Given the description of an element on the screen output the (x, y) to click on. 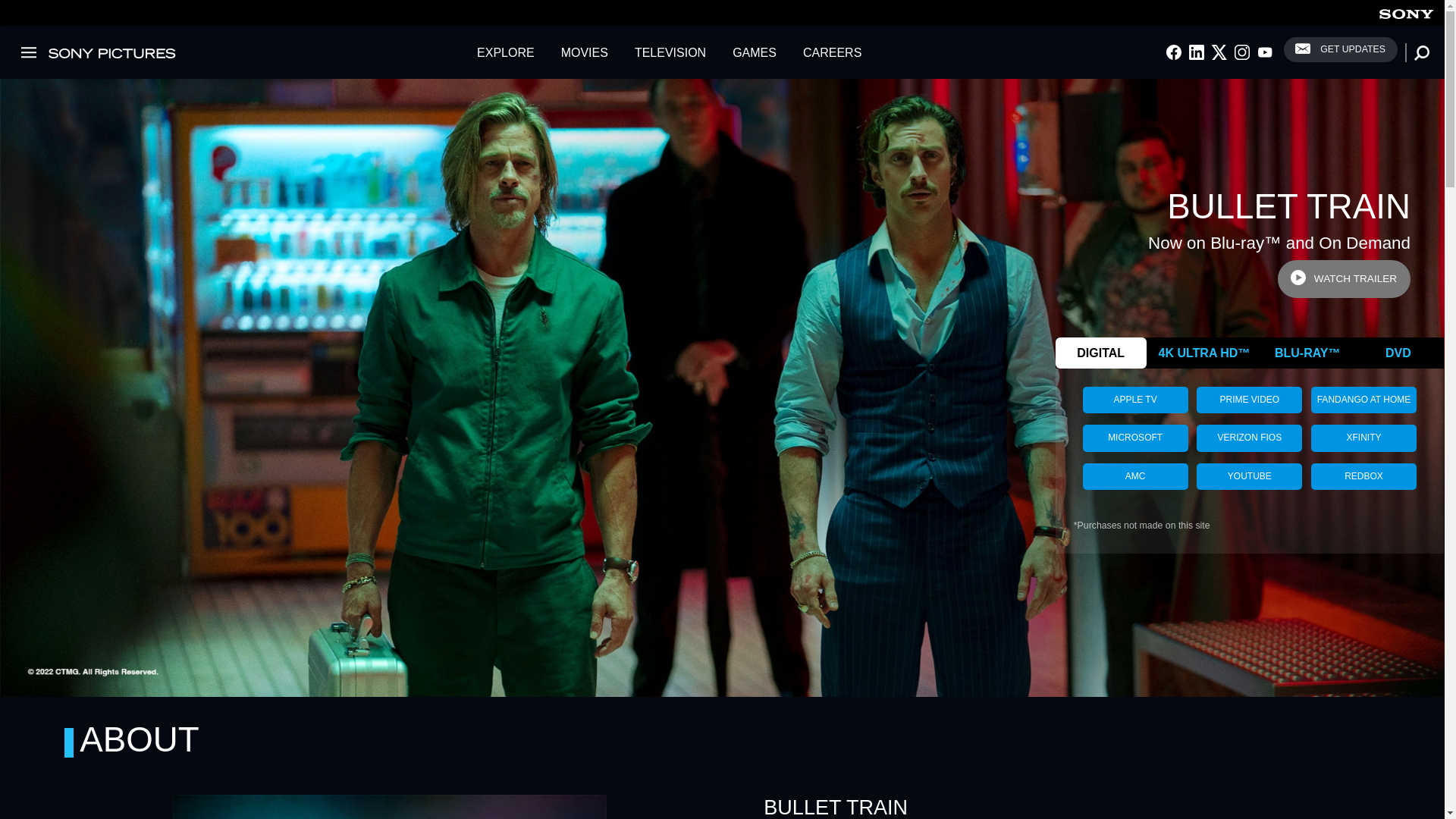
LINKEDIN (1196, 51)
GAMES (753, 51)
XFINITY (1363, 438)
VERIZON FIOS (1248, 438)
FACEBOOK (1173, 51)
FANDANGO AT HOME (1363, 399)
TWITTER (1219, 51)
REDBOX (1363, 475)
DVD (1398, 352)
INSTAGRAM (1241, 51)
TELEVISION (670, 51)
YOUTUBE (1248, 475)
CAREERS (832, 51)
EXPLORE (505, 51)
Search (7, 7)
